Given the description of an element on the screen output the (x, y) to click on. 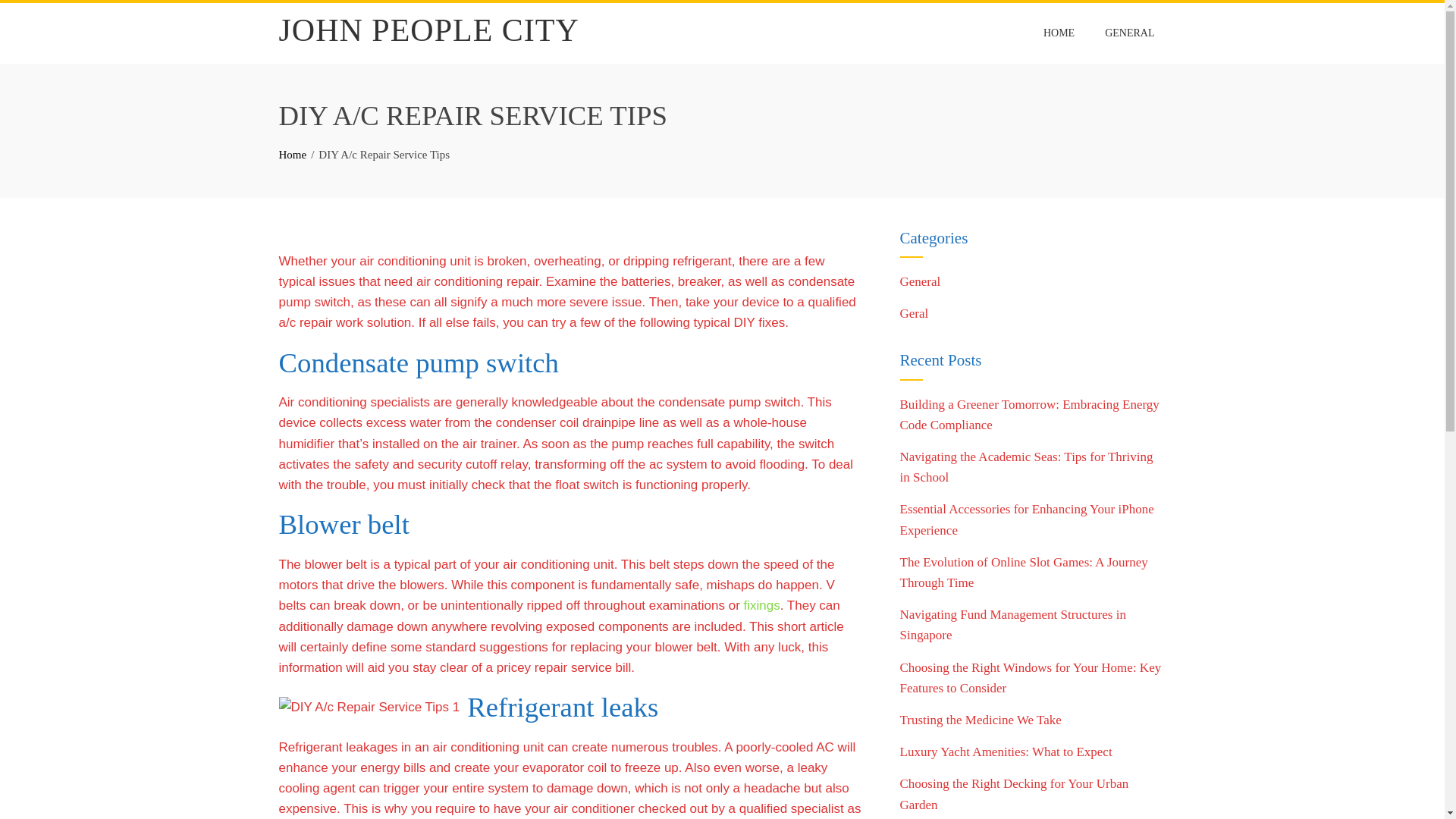
Navigating the Academic Seas: Tips for Thriving in School (1026, 466)
fixings (762, 605)
Home (293, 154)
GENERAL (1129, 32)
Luxury Yacht Amenities: What to Expect (1005, 751)
JOHN PEOPLE CITY (429, 30)
The Evolution of Online Slot Games: A Journey Through Time (1023, 572)
Essential Accessories for Enhancing Your iPhone Experience (1026, 519)
Choosing the Right Decking for Your Urban Garden (1013, 793)
Trusting the Medicine We Take (980, 719)
